Given the description of an element on the screen output the (x, y) to click on. 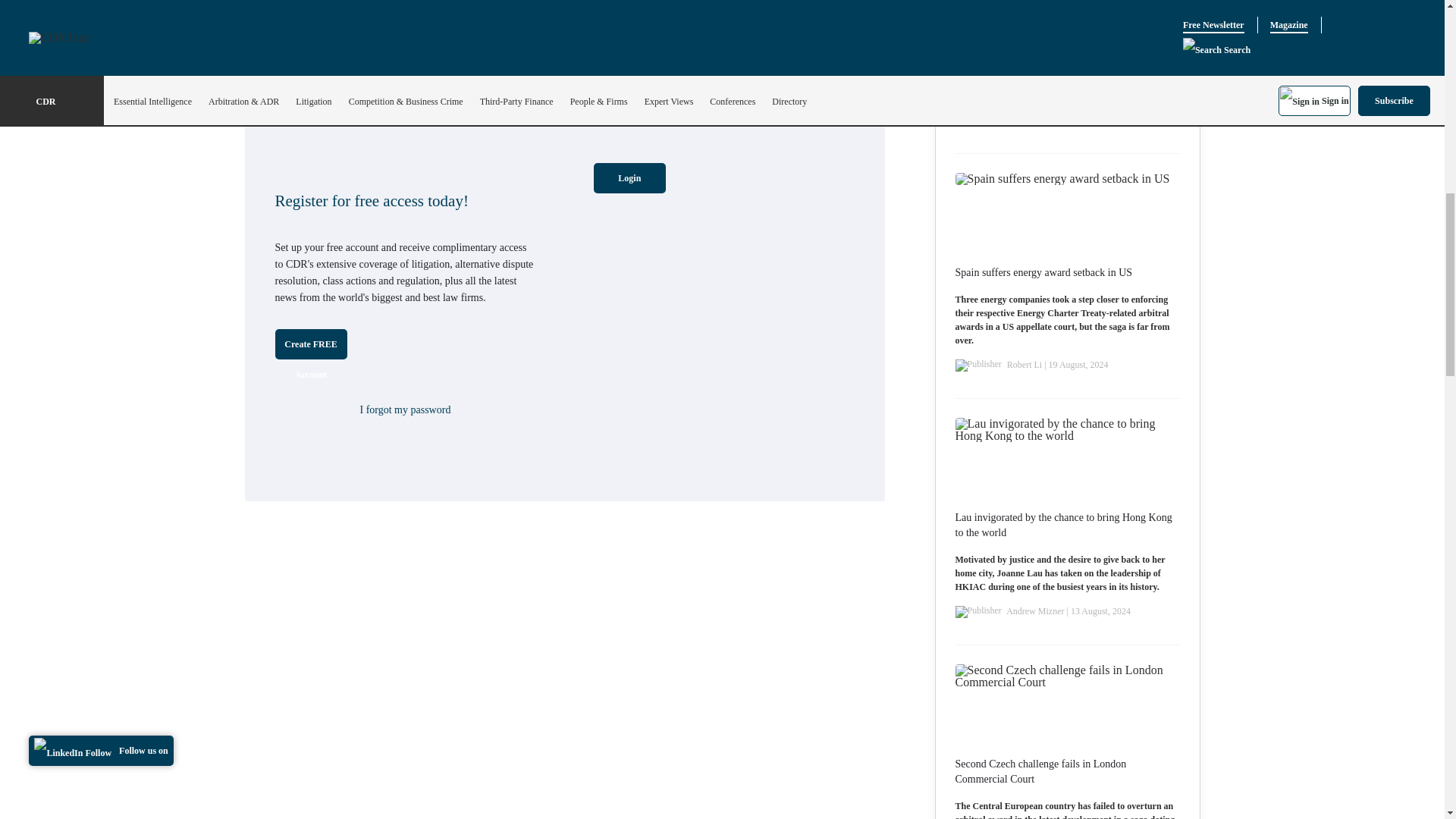
I forgot my password (404, 409)
Create FREE Account (310, 344)
Login (629, 177)
